Given the description of an element on the screen output the (x, y) to click on. 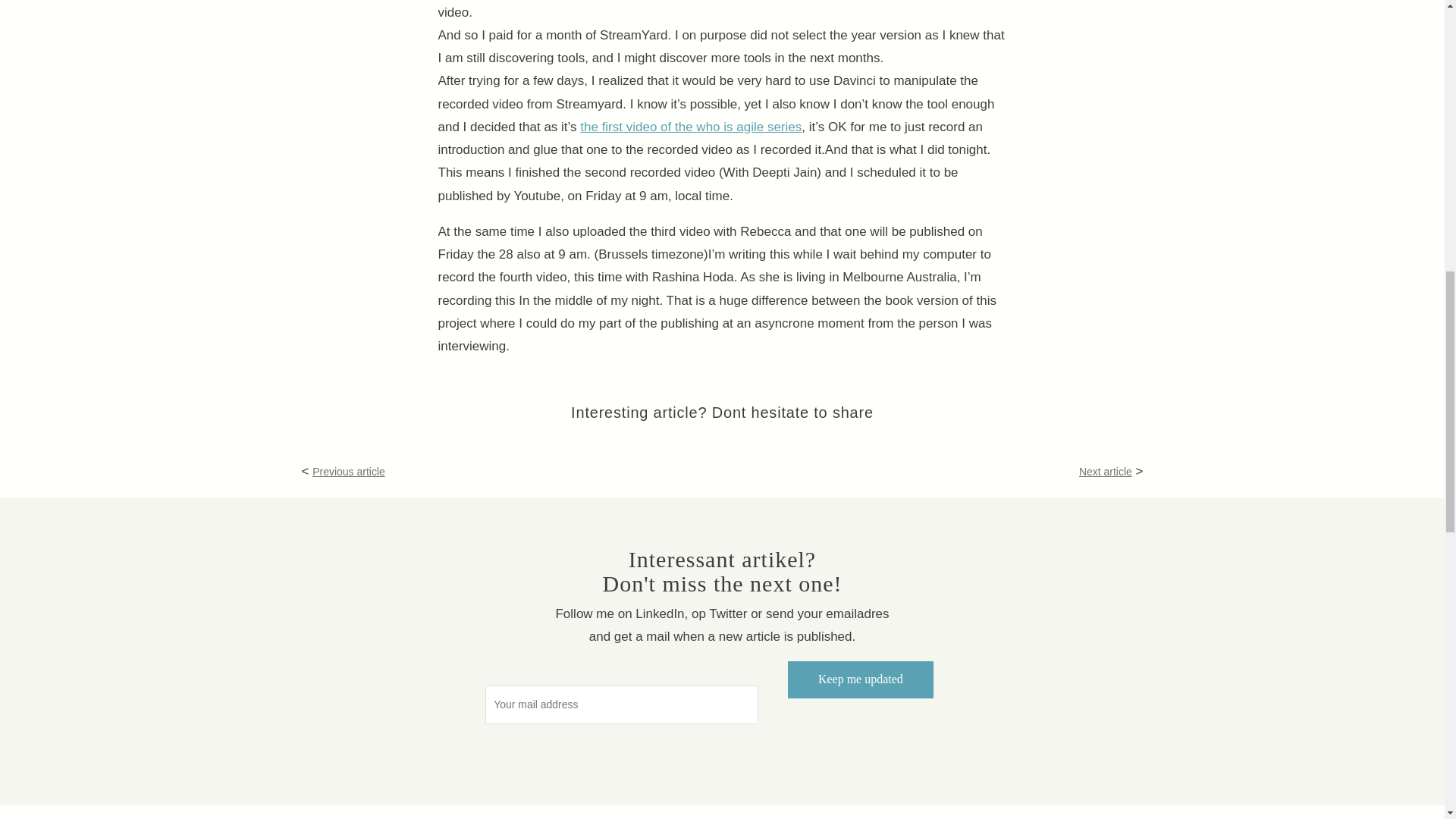
Keep me updated (860, 678)
Next article (1105, 471)
Previous article (349, 471)
the first video of the who is agile series (690, 126)
Keep me updated (860, 678)
